Given the description of an element on the screen output the (x, y) to click on. 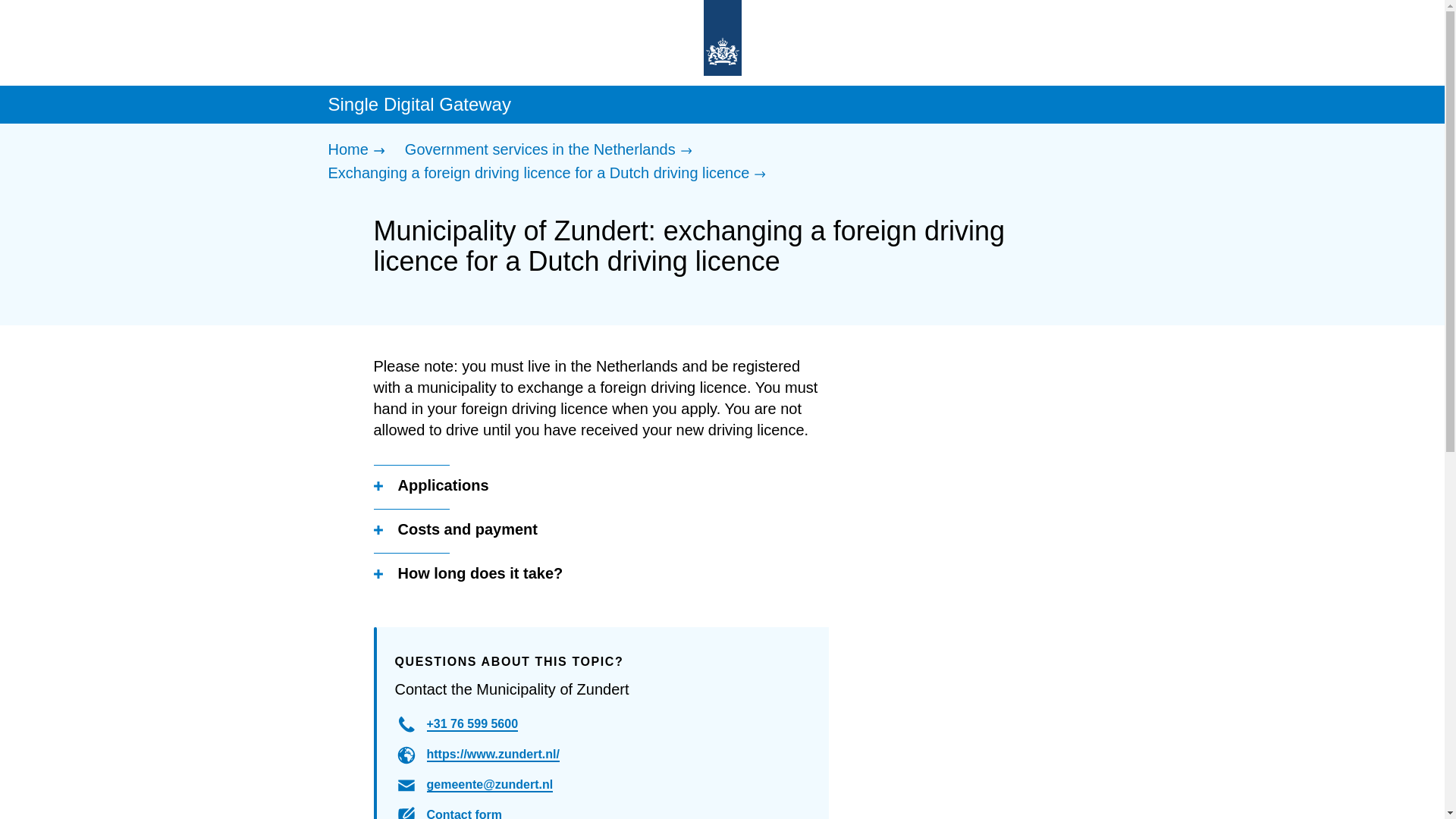
To the homepage of sdg.government.nl (764, 38)
Government services in the Netherlands (552, 150)
How long does it take? (467, 574)
Applications (429, 486)
Contact form (464, 813)
Home (359, 150)
Costs and payment (454, 530)
